Given the description of an element on the screen output the (x, y) to click on. 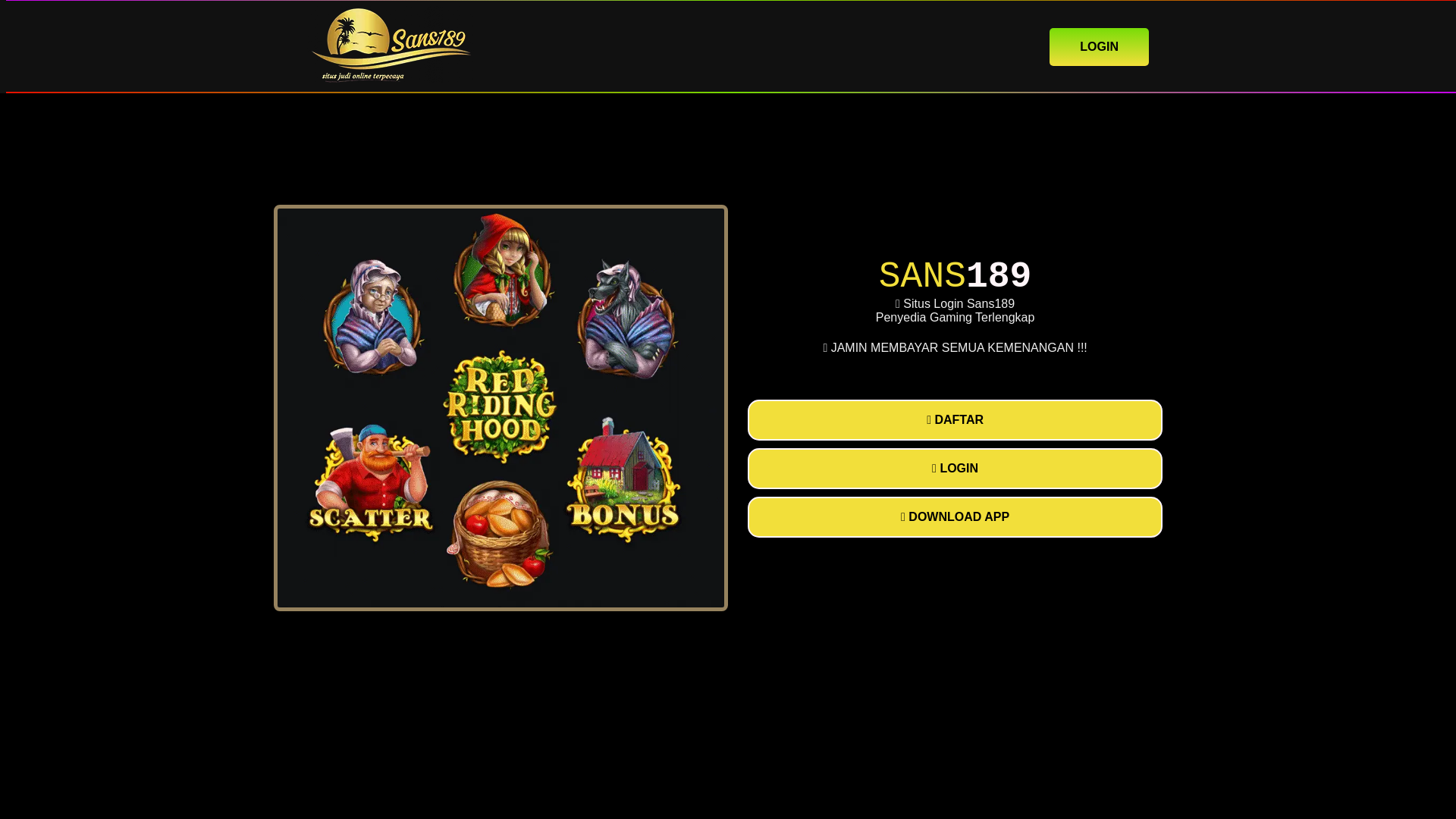
LOGIN (1098, 46)
LOGIN (954, 467)
DAFTAR (954, 419)
DOWNLOAD APP (954, 516)
